Given the description of an element on the screen output the (x, y) to click on. 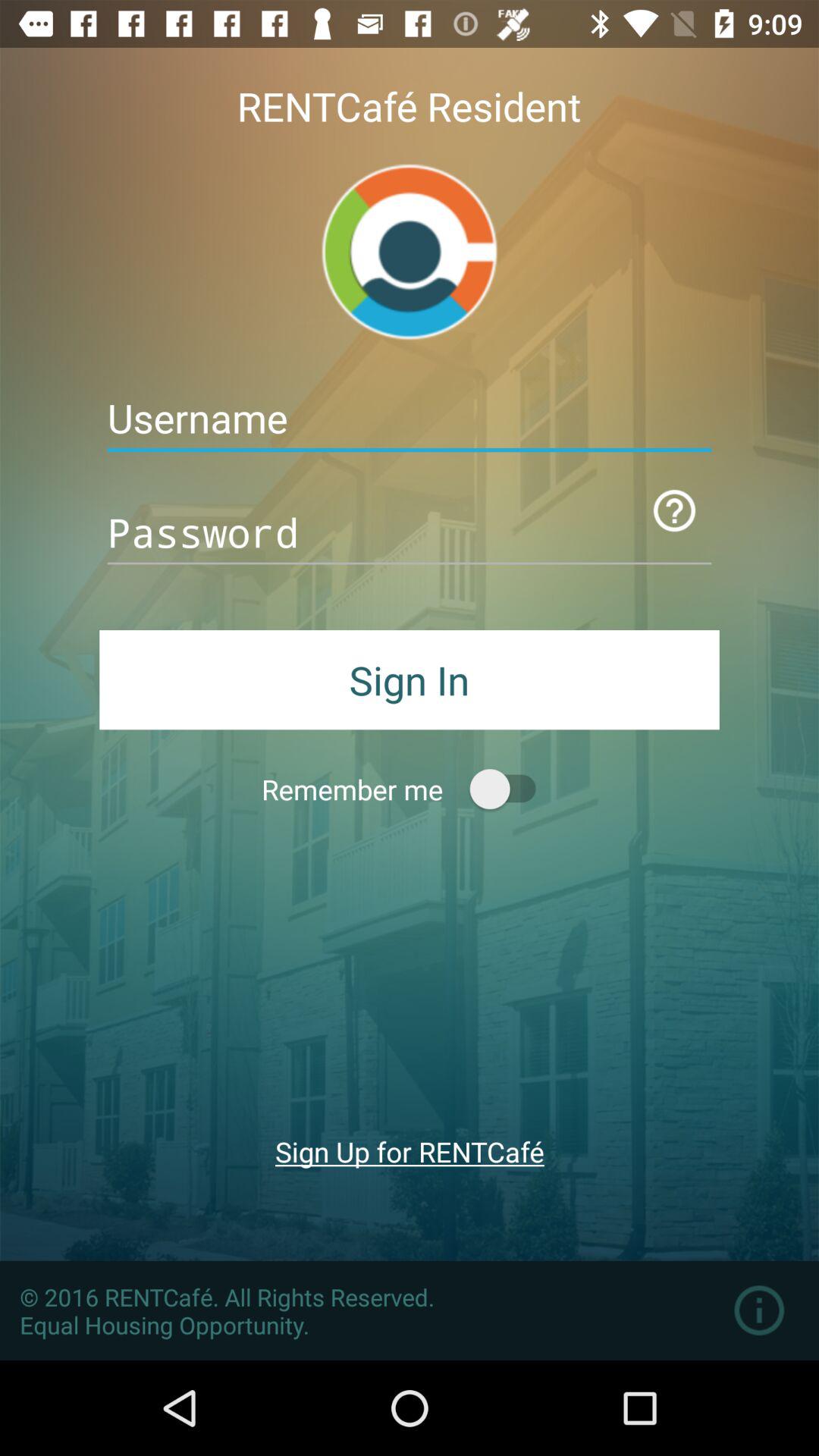
enter password (409, 532)
